Given the description of an element on the screen output the (x, y) to click on. 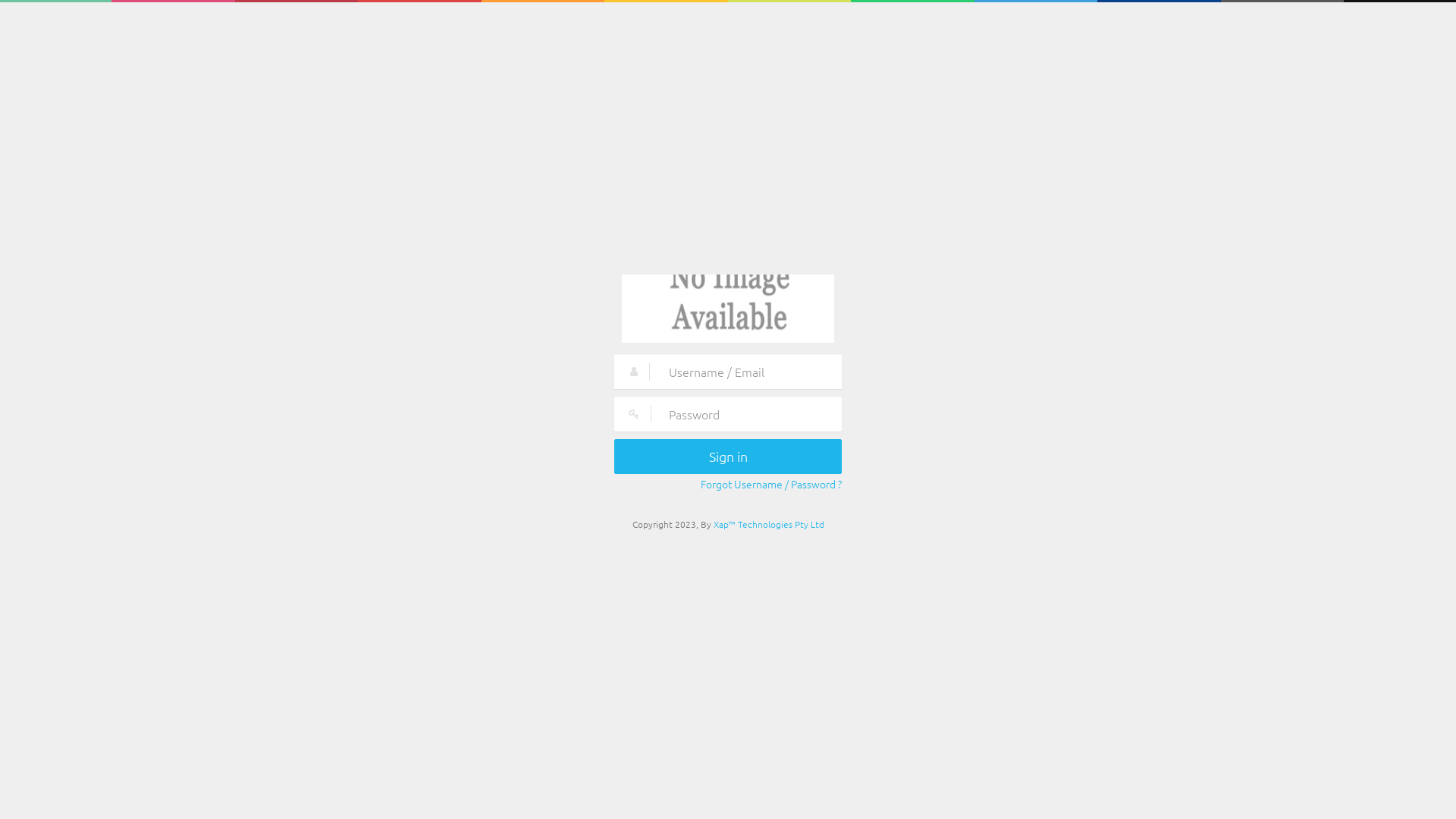
Sign in Element type: text (727, 456)
Forgot Username / Password ? Element type: text (770, 483)
